Given the description of an element on the screen output the (x, y) to click on. 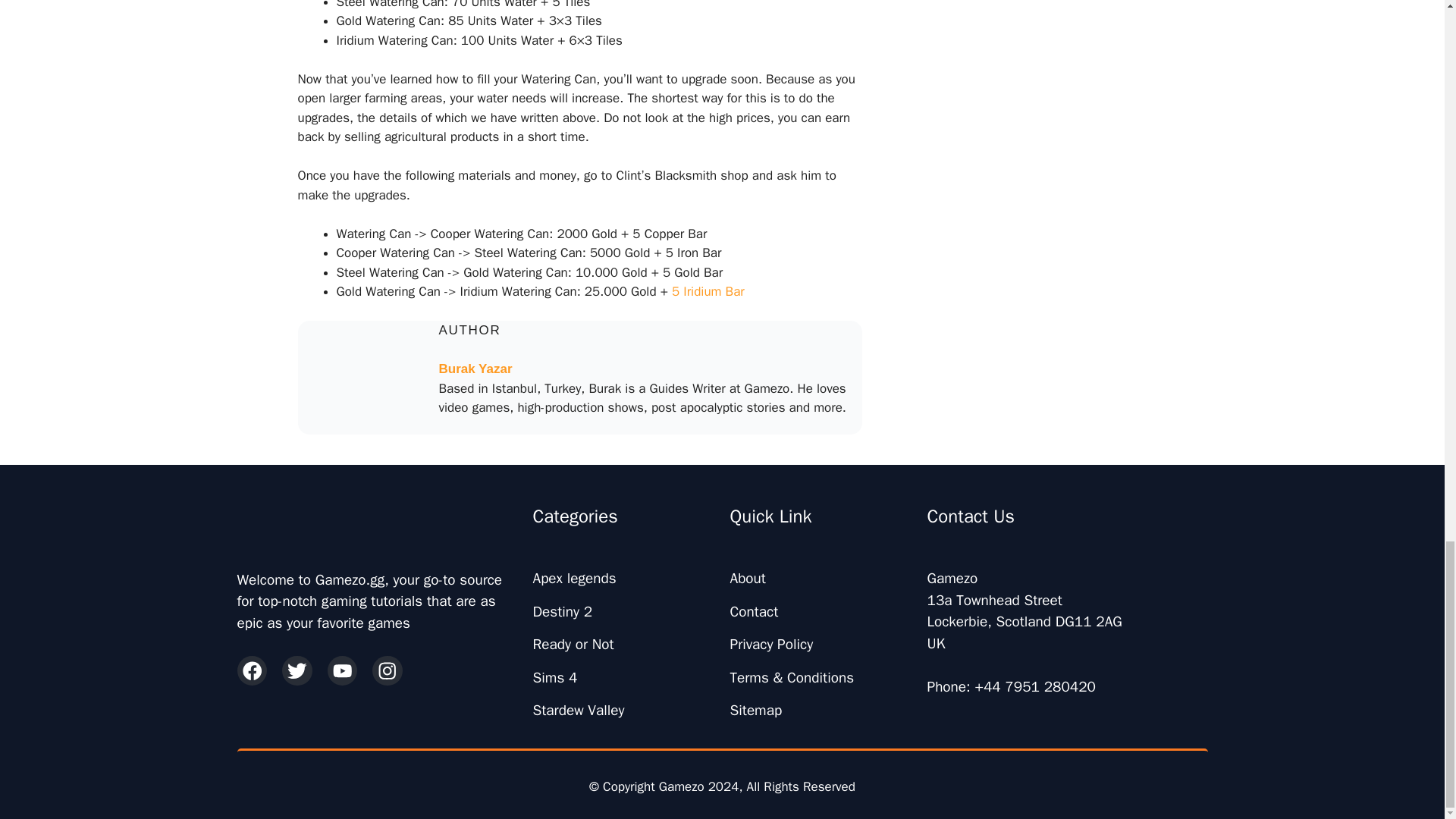
5 Iridium Bar (707, 291)
Stardew Valley (578, 710)
Ready or Not (572, 644)
orange-white-transparent (260, 522)
Burak Yazar (475, 368)
Sims 4 (554, 678)
Destiny 2 (562, 611)
Contact (753, 611)
About (747, 578)
Privacy Policy (770, 644)
Apex legends (573, 578)
